Given the description of an element on the screen output the (x, y) to click on. 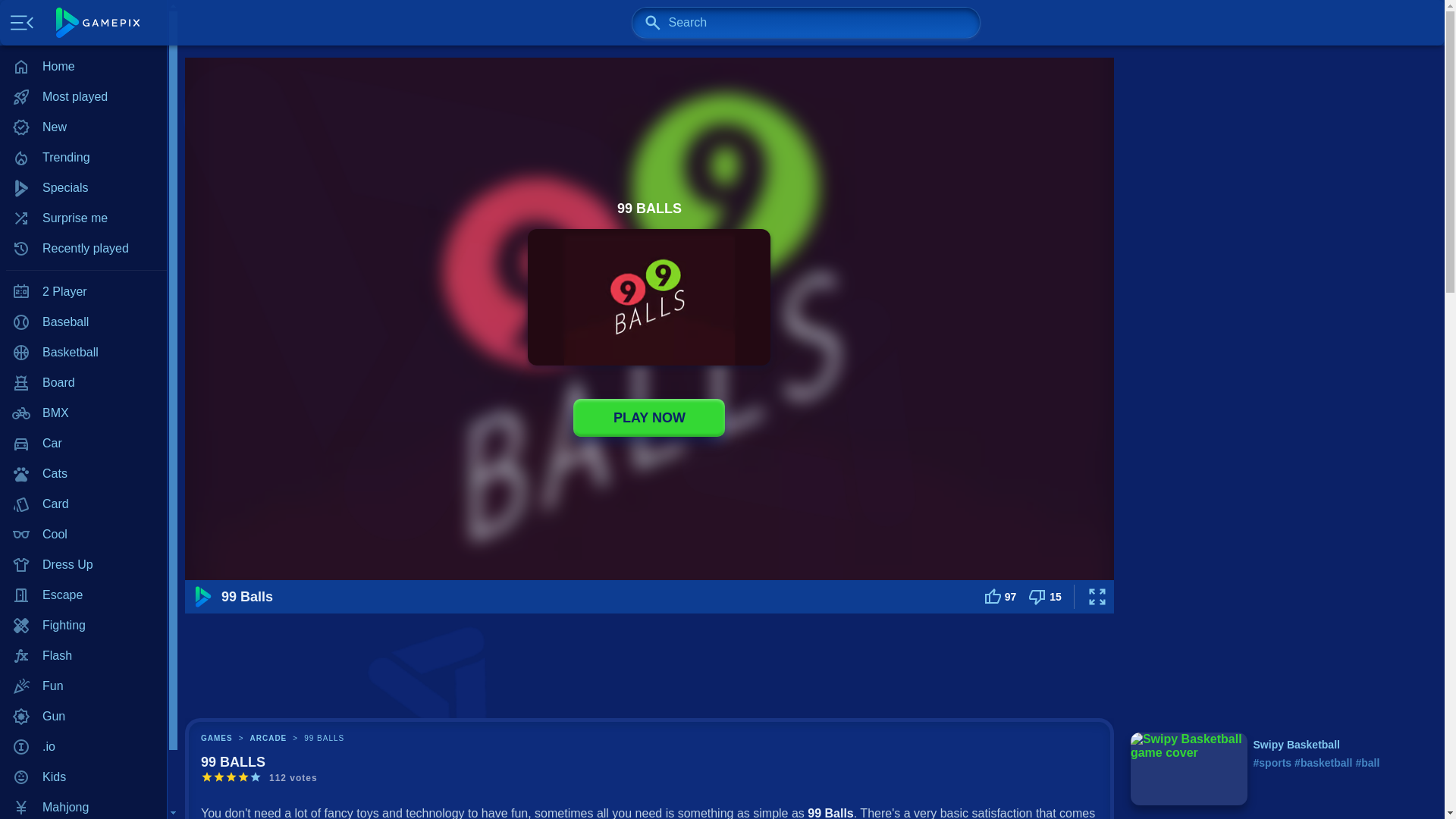
Escape (83, 594)
Fun (83, 685)
Home (83, 66)
Specials (83, 187)
Dress Up (83, 564)
Basketball (83, 352)
Baseball (83, 322)
Car (83, 443)
Flash (83, 655)
Baseball (83, 322)
Flash (83, 655)
Cool (83, 534)
Escape (83, 594)
Basketball (83, 352)
Recently played (83, 248)
